Given the description of an element on the screen output the (x, y) to click on. 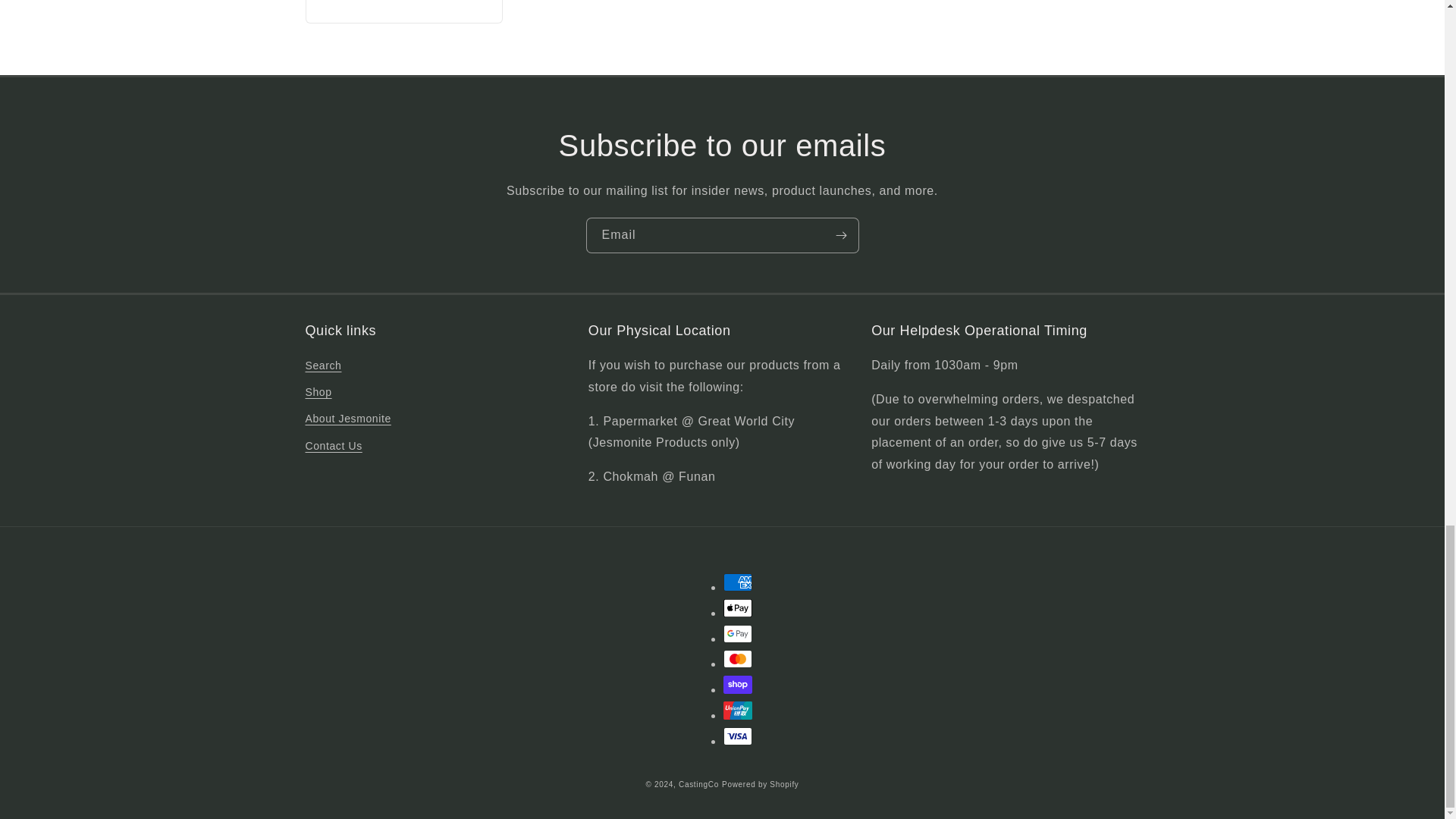
Union Pay (737, 710)
Apple Pay (737, 607)
Shop Pay (737, 684)
Visa (737, 736)
Mastercard (737, 659)
Google Pay (737, 633)
American Express (737, 582)
